Given the description of an element on the screen output the (x, y) to click on. 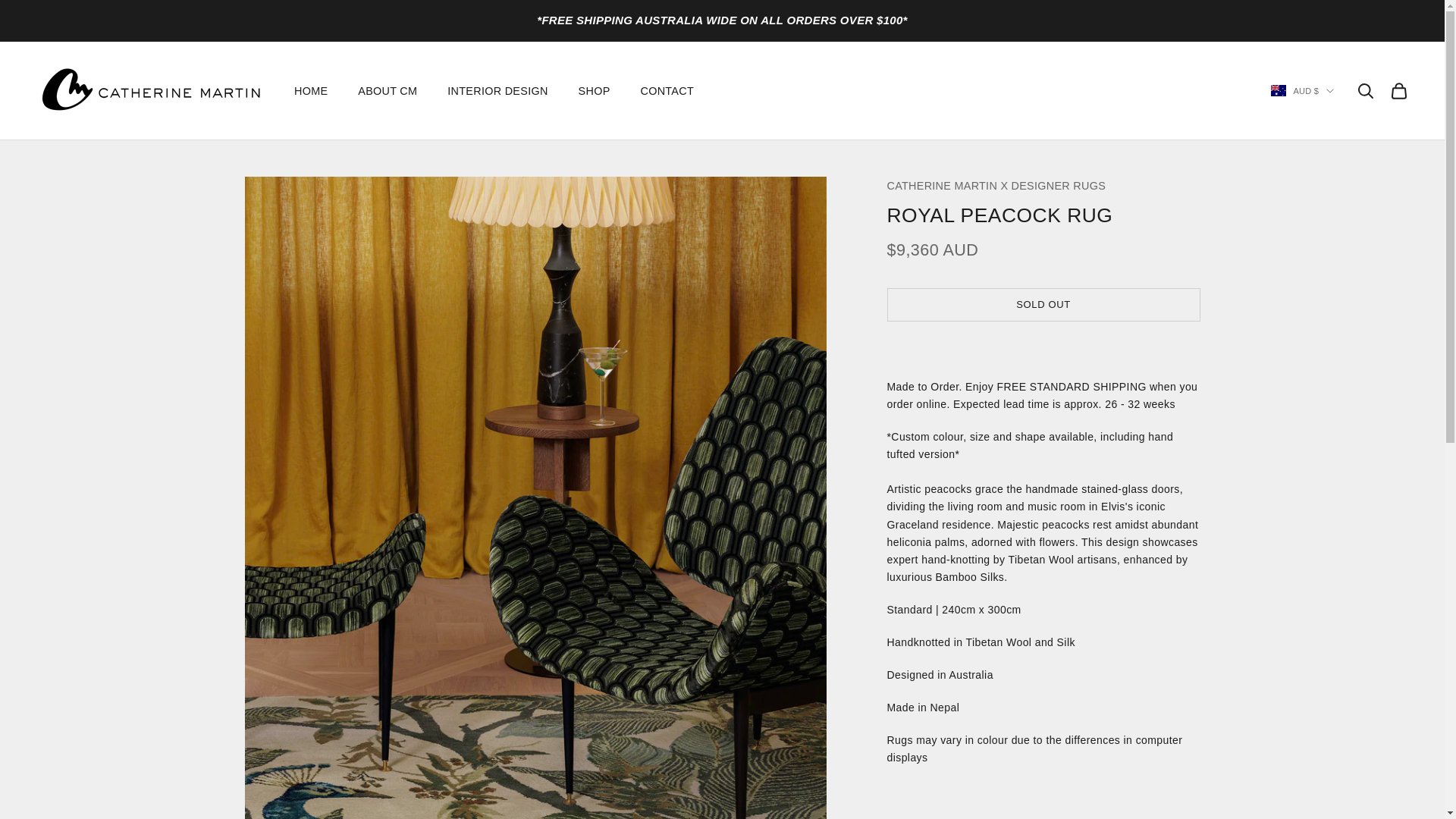
Open search (1365, 90)
Open cart (1398, 90)
HOME (310, 90)
Catherine Martin Designs (149, 90)
ABOUT CM (387, 90)
CONTACT (667, 90)
